Given the description of an element on the screen output the (x, y) to click on. 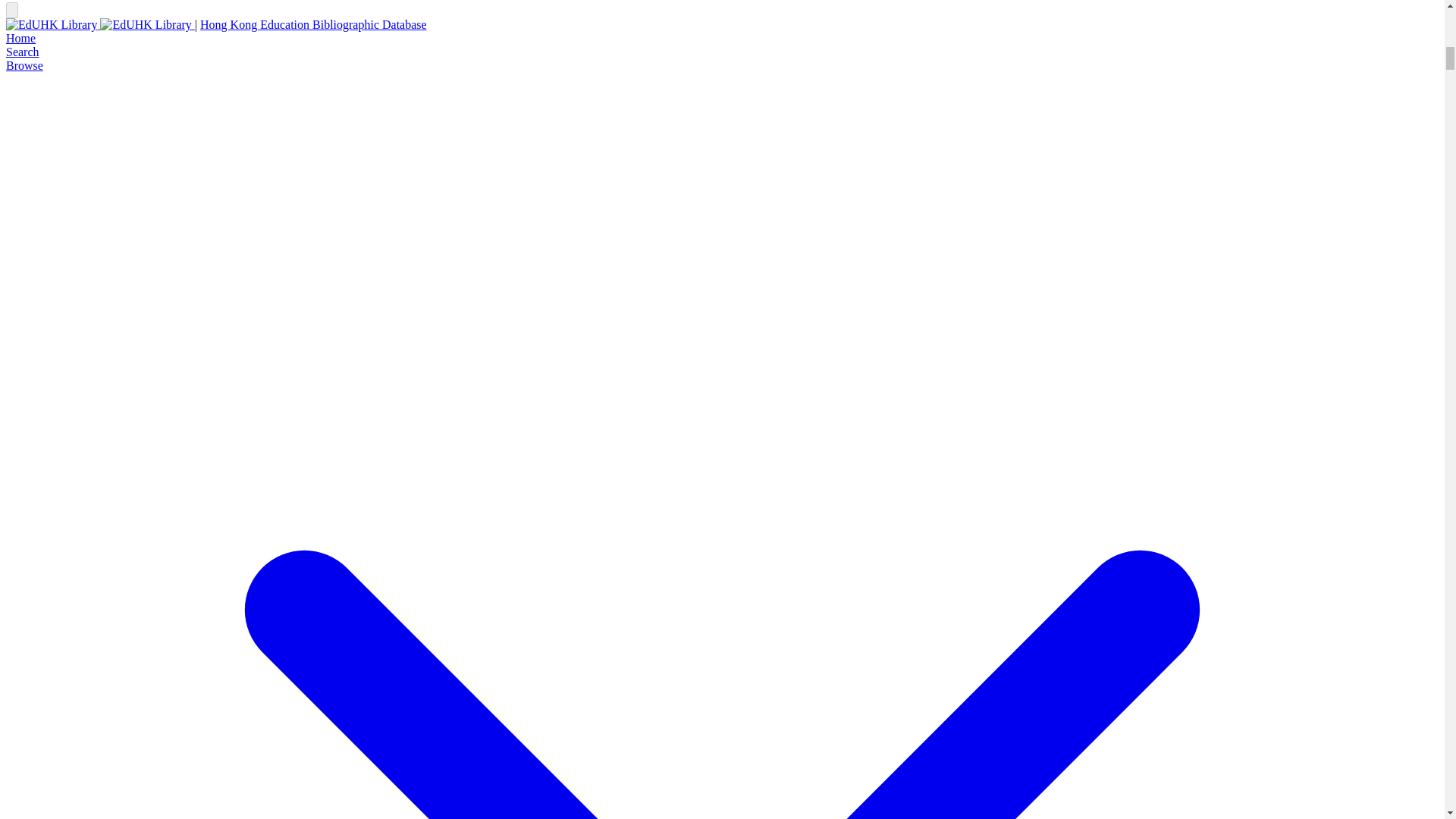
Search (22, 51)
Hong Kong Education Bibliographic Database (313, 24)
Home (19, 38)
